Given the description of an element on the screen output the (x, y) to click on. 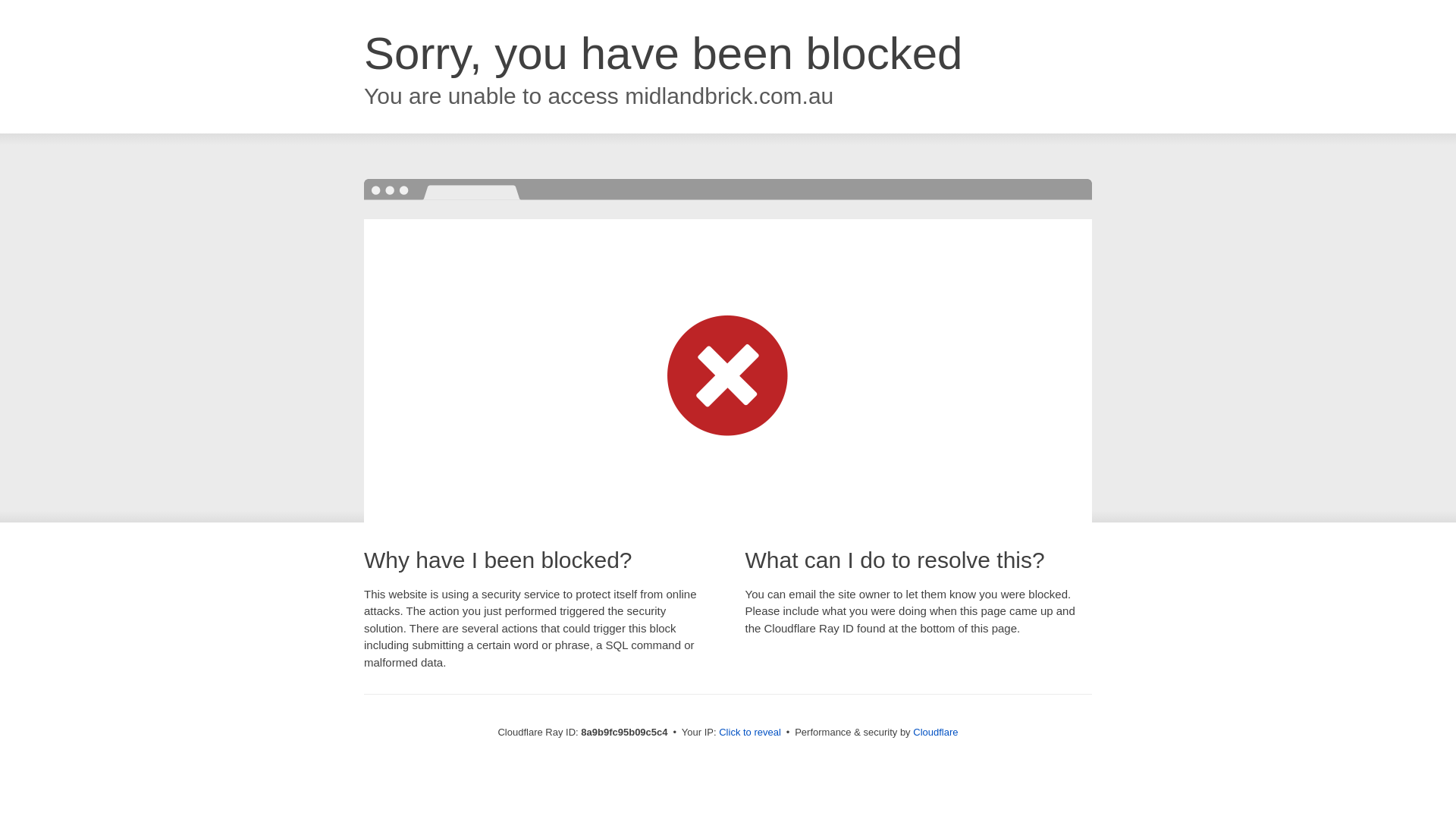
Click to reveal (749, 732)
Cloudflare (935, 731)
